Given the description of an element on the screen output the (x, y) to click on. 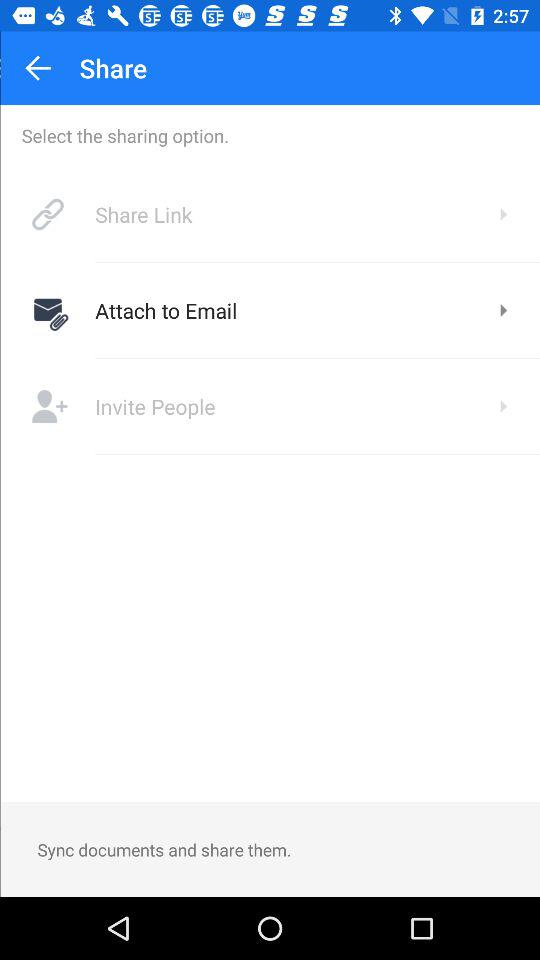
go back (37, 68)
